Given the description of an element on the screen output the (x, y) to click on. 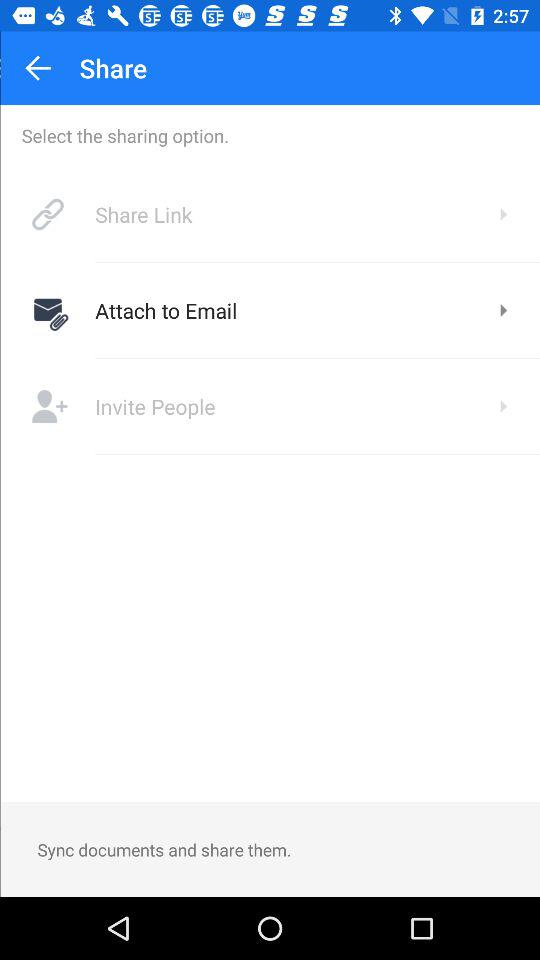
go back (37, 68)
